Given the description of an element on the screen output the (x, y) to click on. 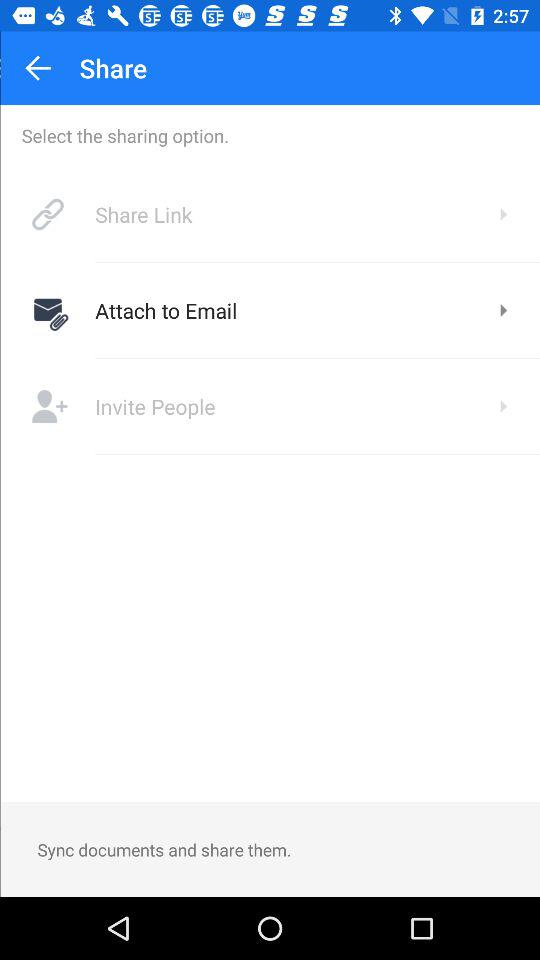
go back (37, 68)
